Given the description of an element on the screen output the (x, y) to click on. 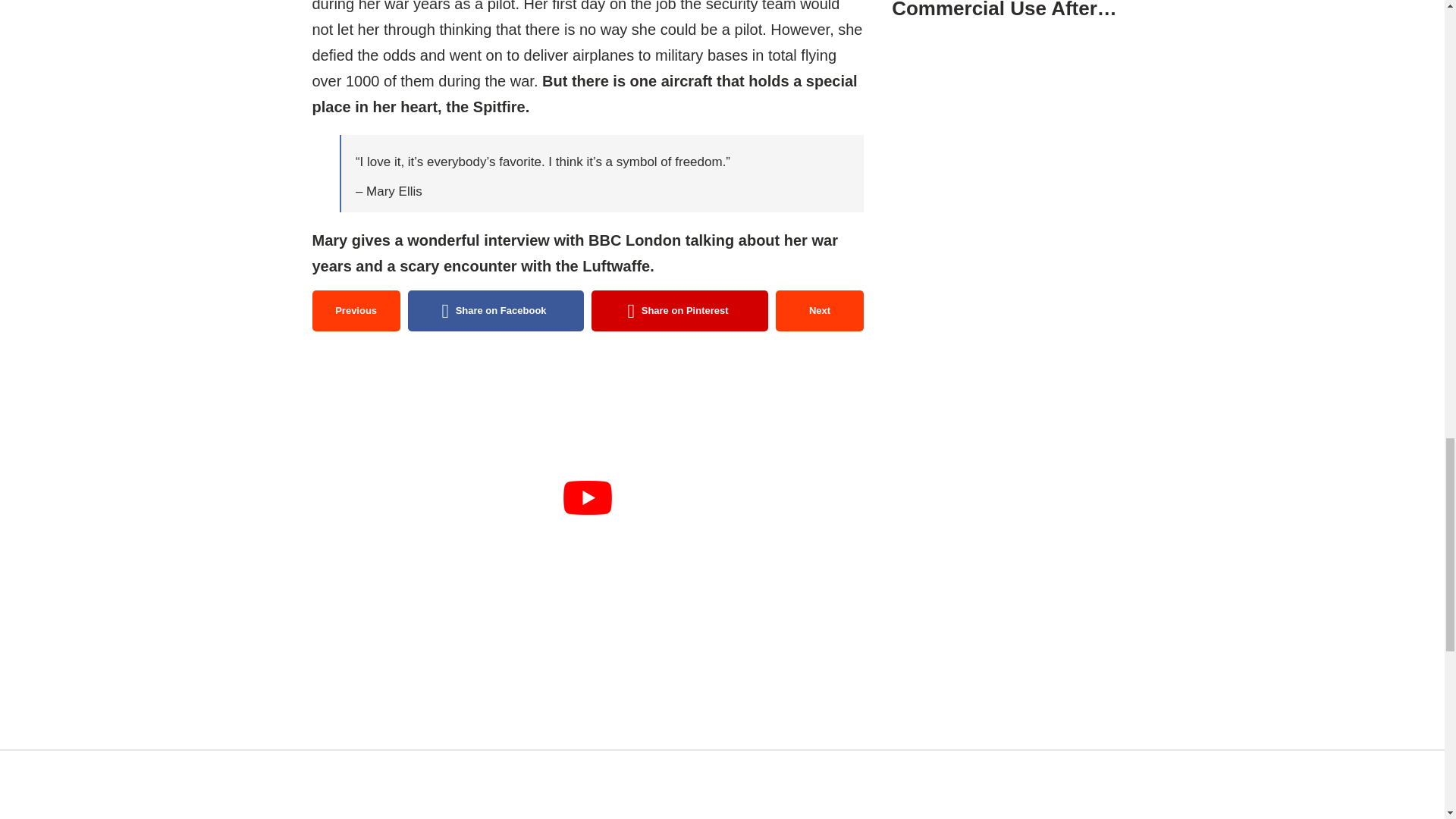
Share on Pinterest (679, 310)
